Given the description of an element on the screen output the (x, y) to click on. 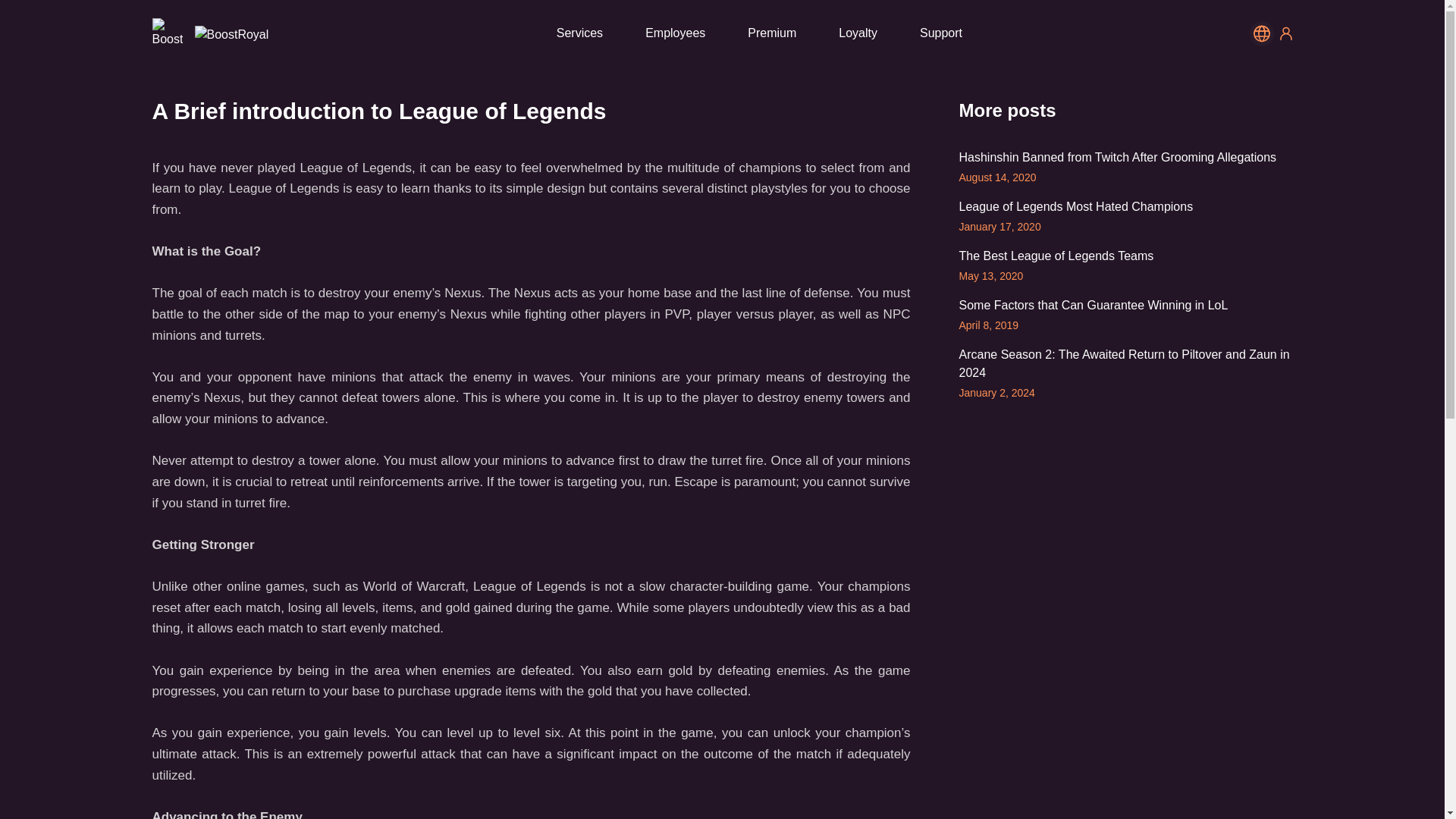
LoL ELO Boost (209, 33)
BoostRoyal (230, 34)
BoostRoyal (166, 33)
